Given the description of an element on the screen output the (x, y) to click on. 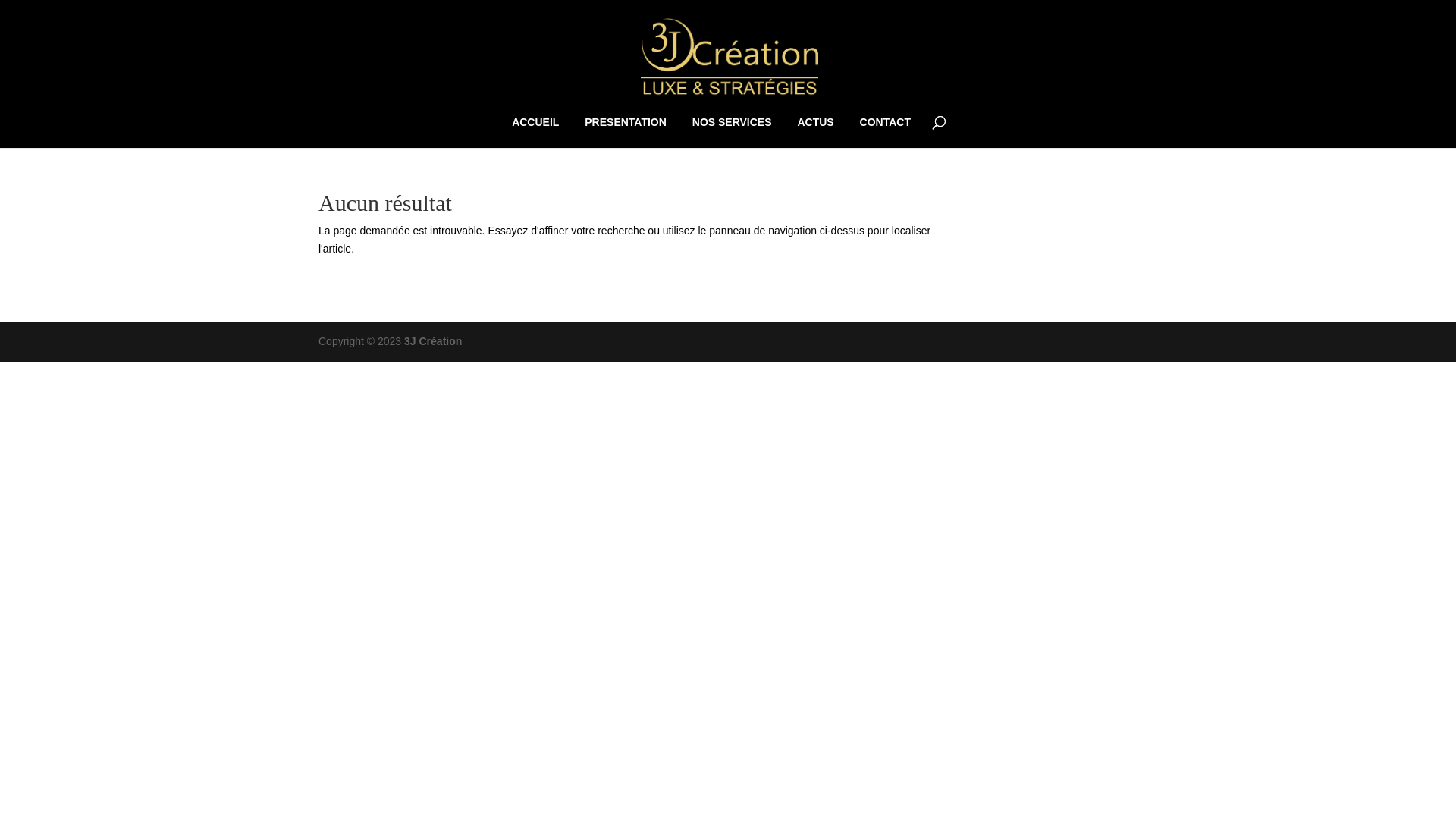
NOS SERVICES Element type: text (731, 131)
ACCUEIL Element type: text (534, 131)
ACTUS Element type: text (815, 131)
PRESENTATION Element type: text (625, 131)
CONTACT Element type: text (884, 131)
